Given the description of an element on the screen output the (x, y) to click on. 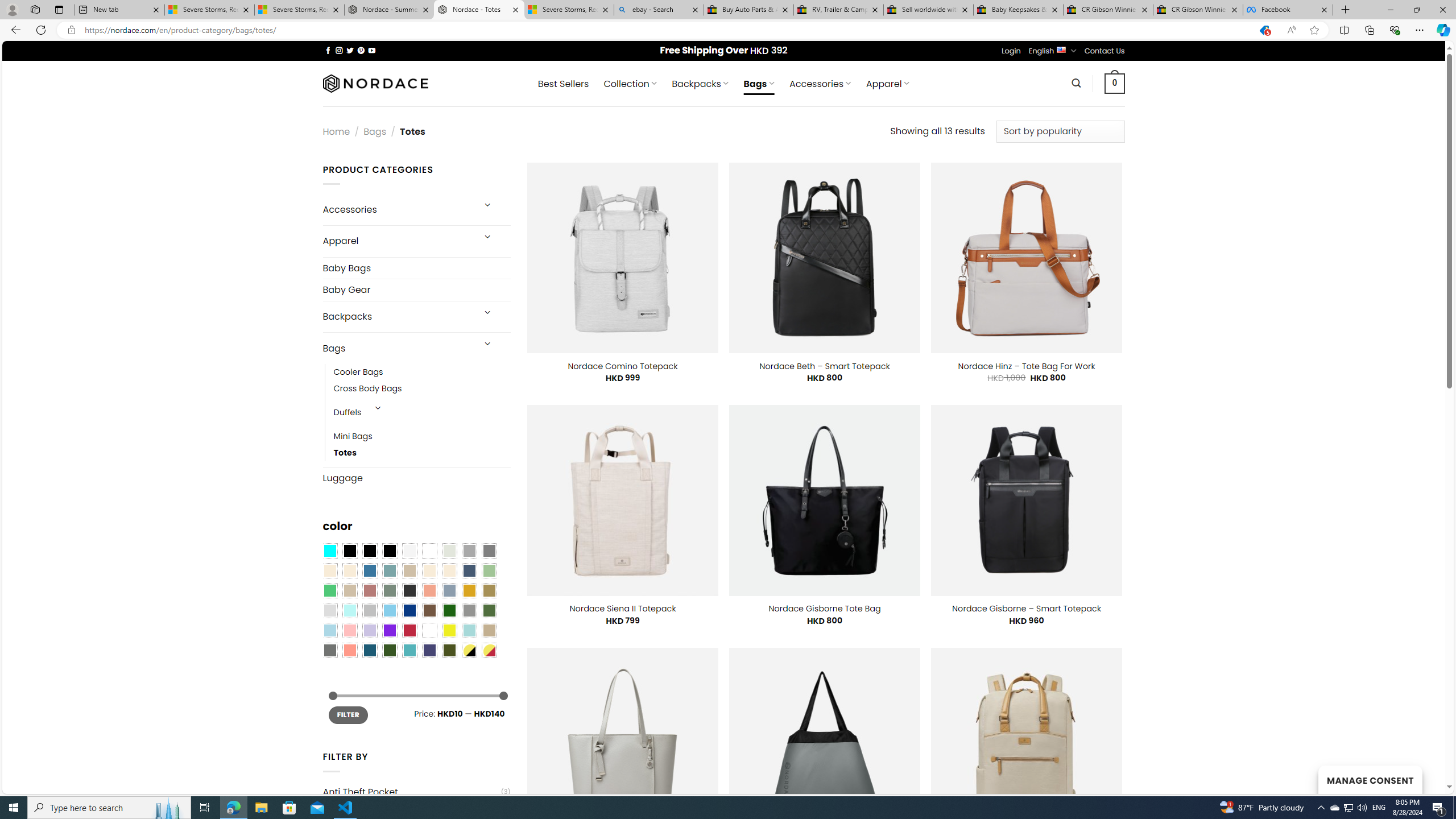
Khaki (488, 630)
Buy Auto Parts & Accessories | eBay (747, 9)
Yellow-Red (488, 649)
Follow on Twitter (349, 49)
Black (369, 550)
This site has coupons! Shopping in Microsoft Edge, 5 (1263, 29)
Dull Nickle (329, 649)
Cooler Bags (422, 371)
Purple (389, 630)
Dusty Blue (449, 590)
